Given the description of an element on the screen output the (x, y) to click on. 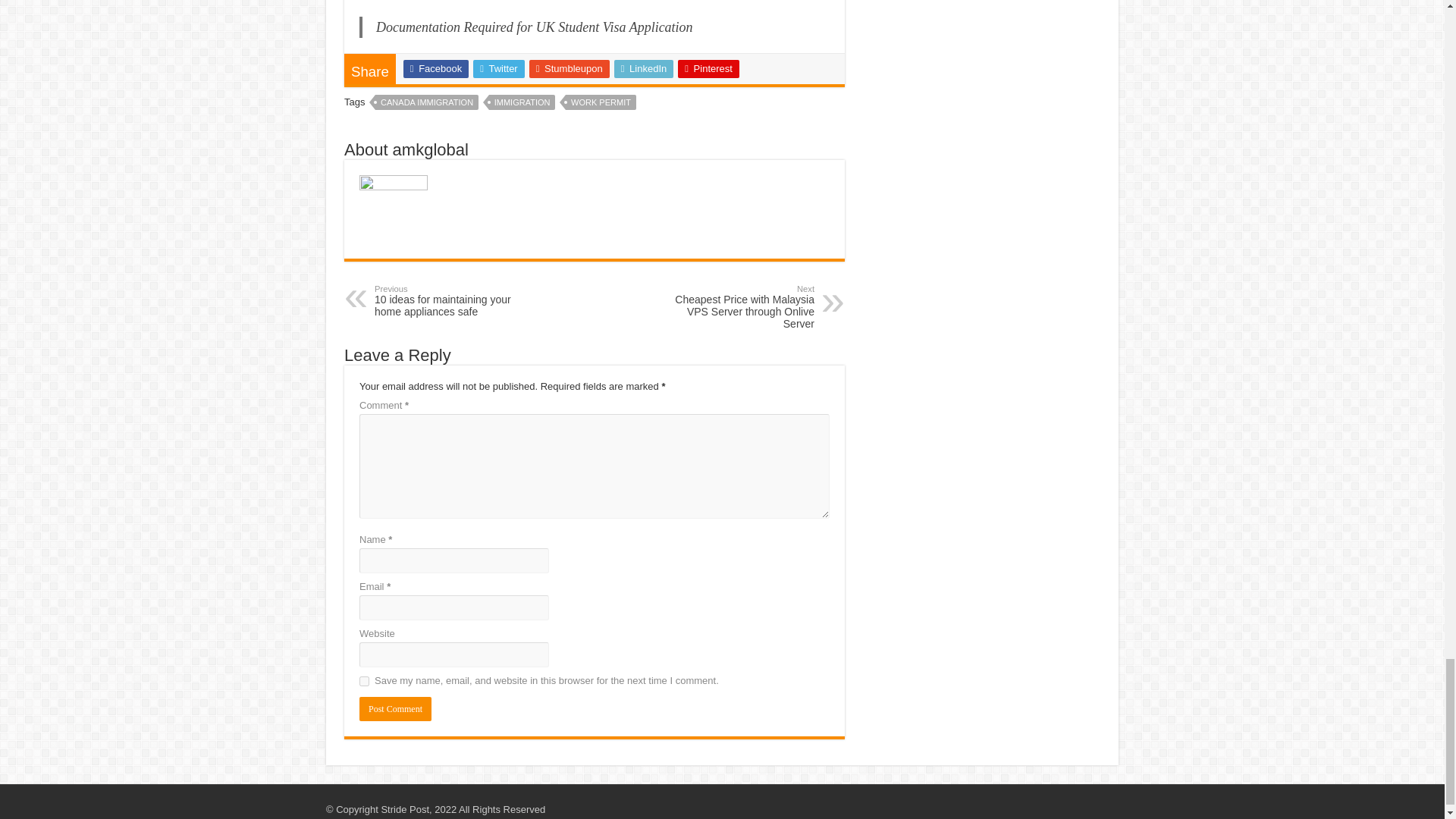
yes (364, 681)
Post Comment (394, 708)
